Given the description of an element on the screen output the (x, y) to click on. 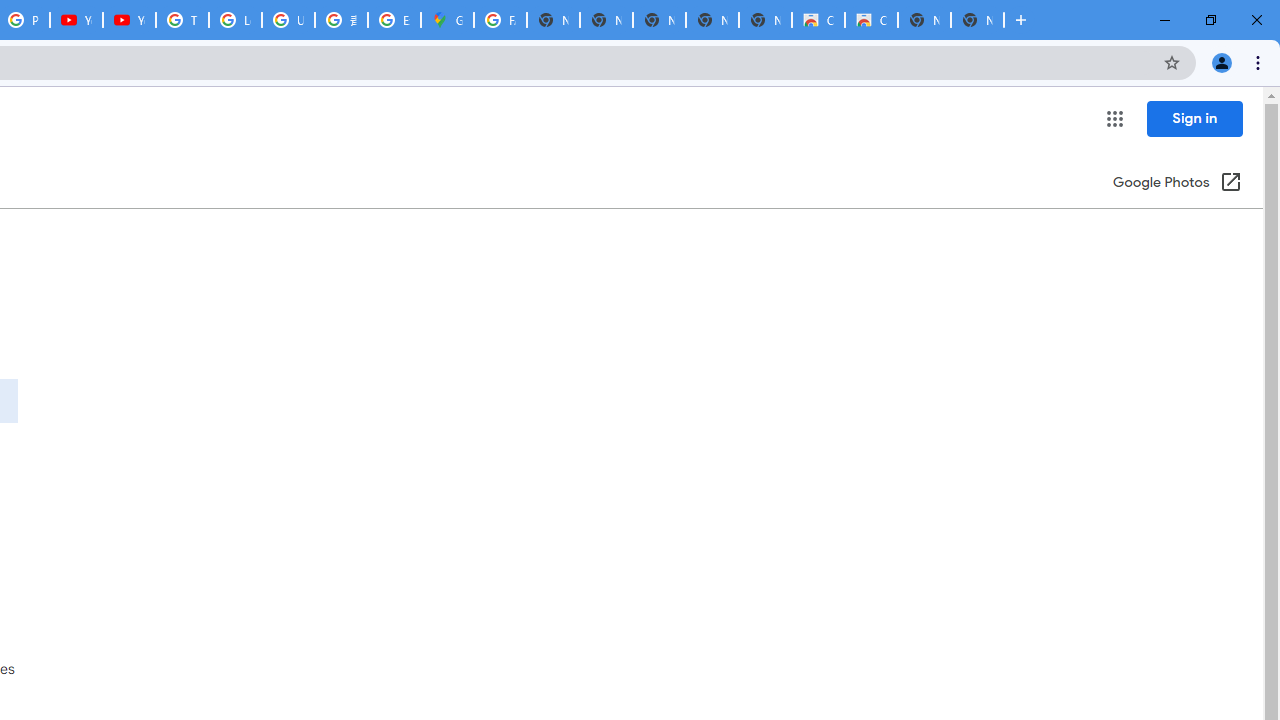
YouTube (129, 20)
Classic Blue - Chrome Web Store (871, 20)
